Given the description of an element on the screen output the (x, y) to click on. 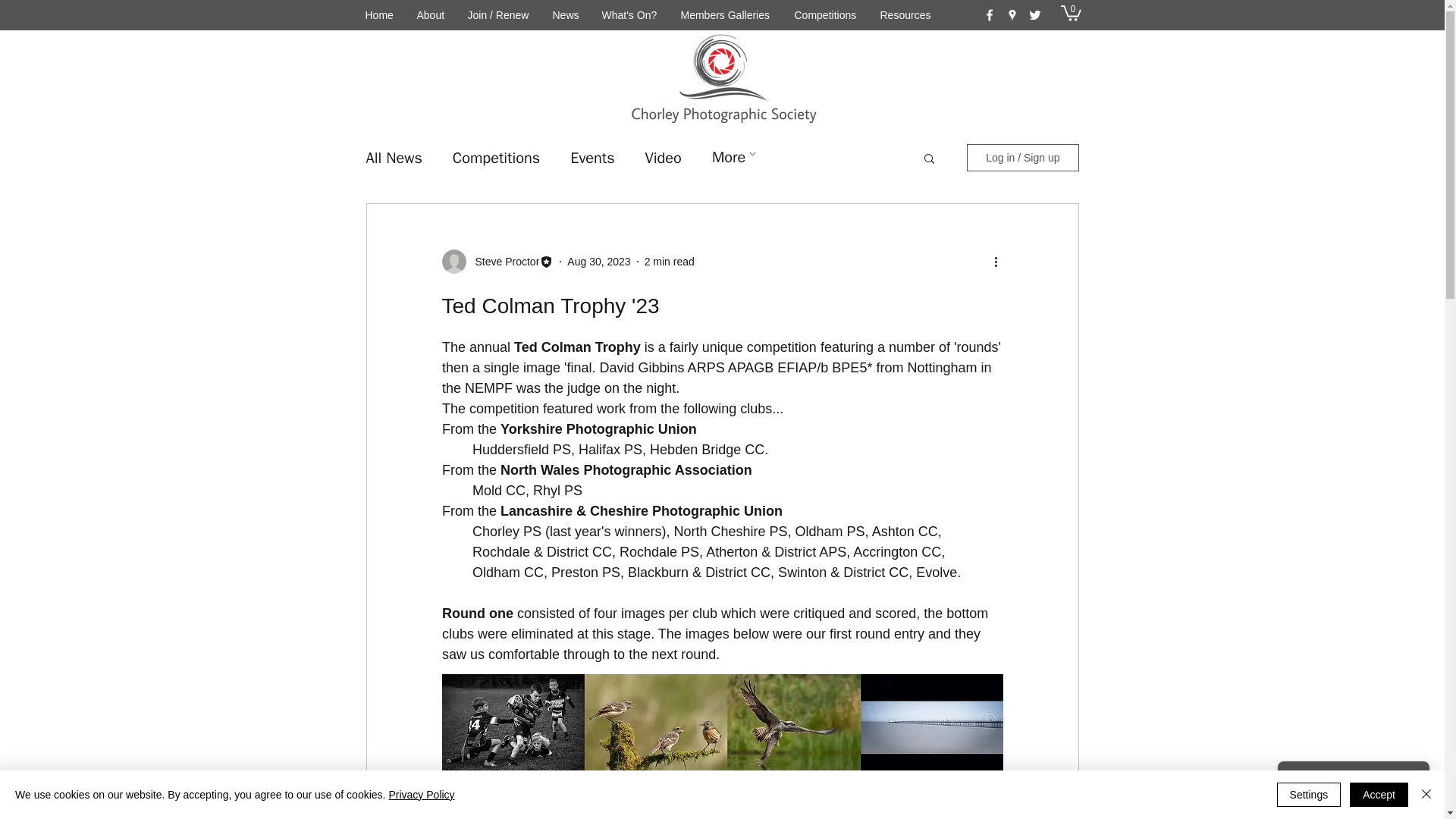
Members Galleries (725, 15)
2 min read (669, 260)
What's On? (628, 15)
Home (378, 15)
About (429, 15)
Aug 30, 2023 (598, 260)
Events (592, 157)
All News (393, 157)
0 (1069, 12)
News (566, 15)
0 (1069, 12)
Video (663, 157)
Steve Proctor (501, 261)
Competitions (496, 157)
